Given the description of an element on the screen output the (x, y) to click on. 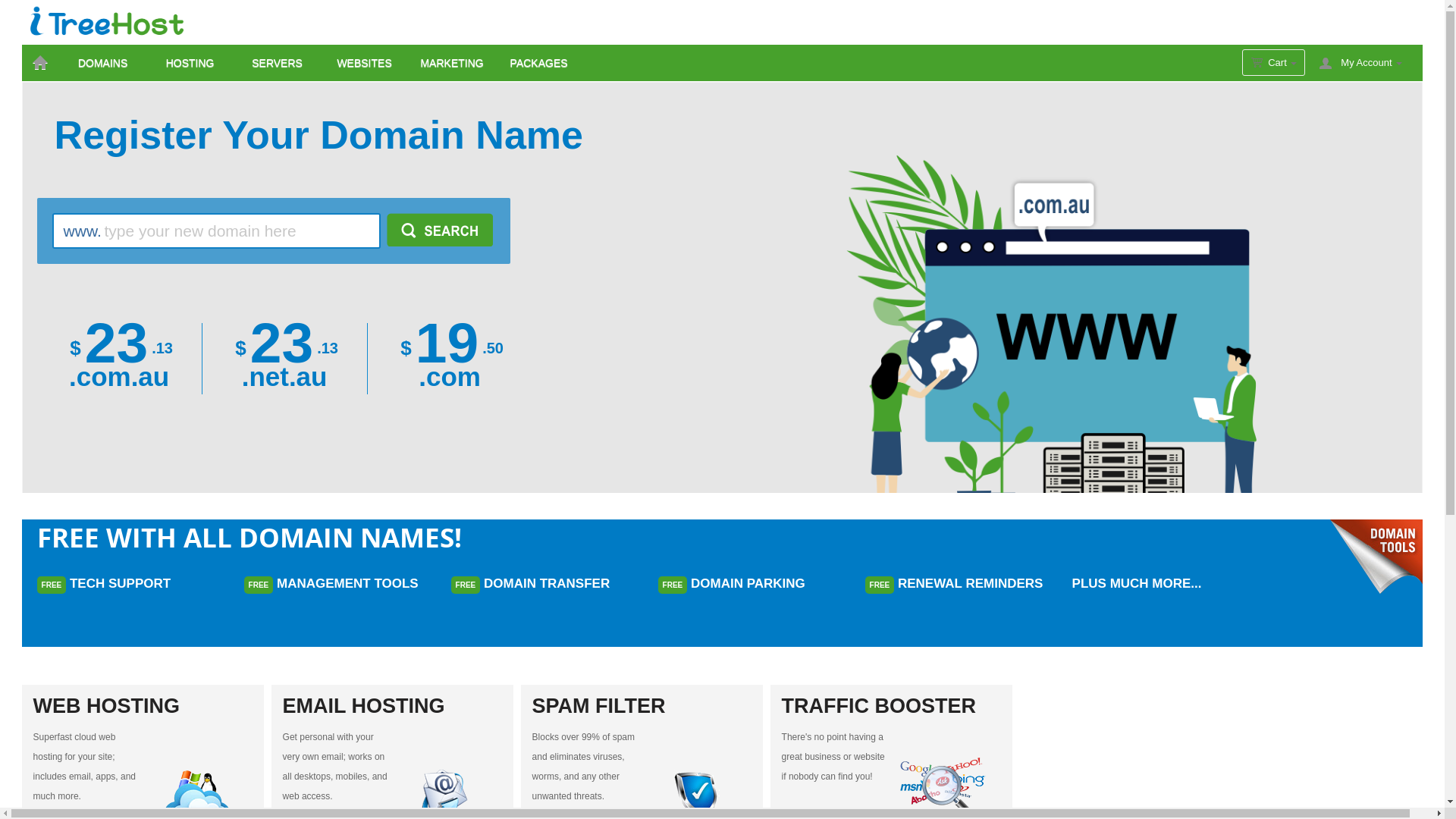
SPAM FILTER Element type: text (641, 705)
MARKETING Element type: text (451, 62)
DOMAINS Element type: text (102, 62)
My Account Element type: text (1370, 62)
HOME Element type: text (40, 62)
WEB HOSTING Element type: text (142, 705)
Search Element type: text (439, 229)
WEBSITES Element type: text (364, 62)
SERVERS Element type: text (277, 62)
Cart Element type: text (1273, 62)
TRAFFIC BOOSTER Element type: text (891, 705)
PACKAGES Element type: text (538, 62)
EMAIL HOSTING Element type: text (392, 705)
HOSTING Element type: text (190, 62)
